Given the description of an element on the screen output the (x, y) to click on. 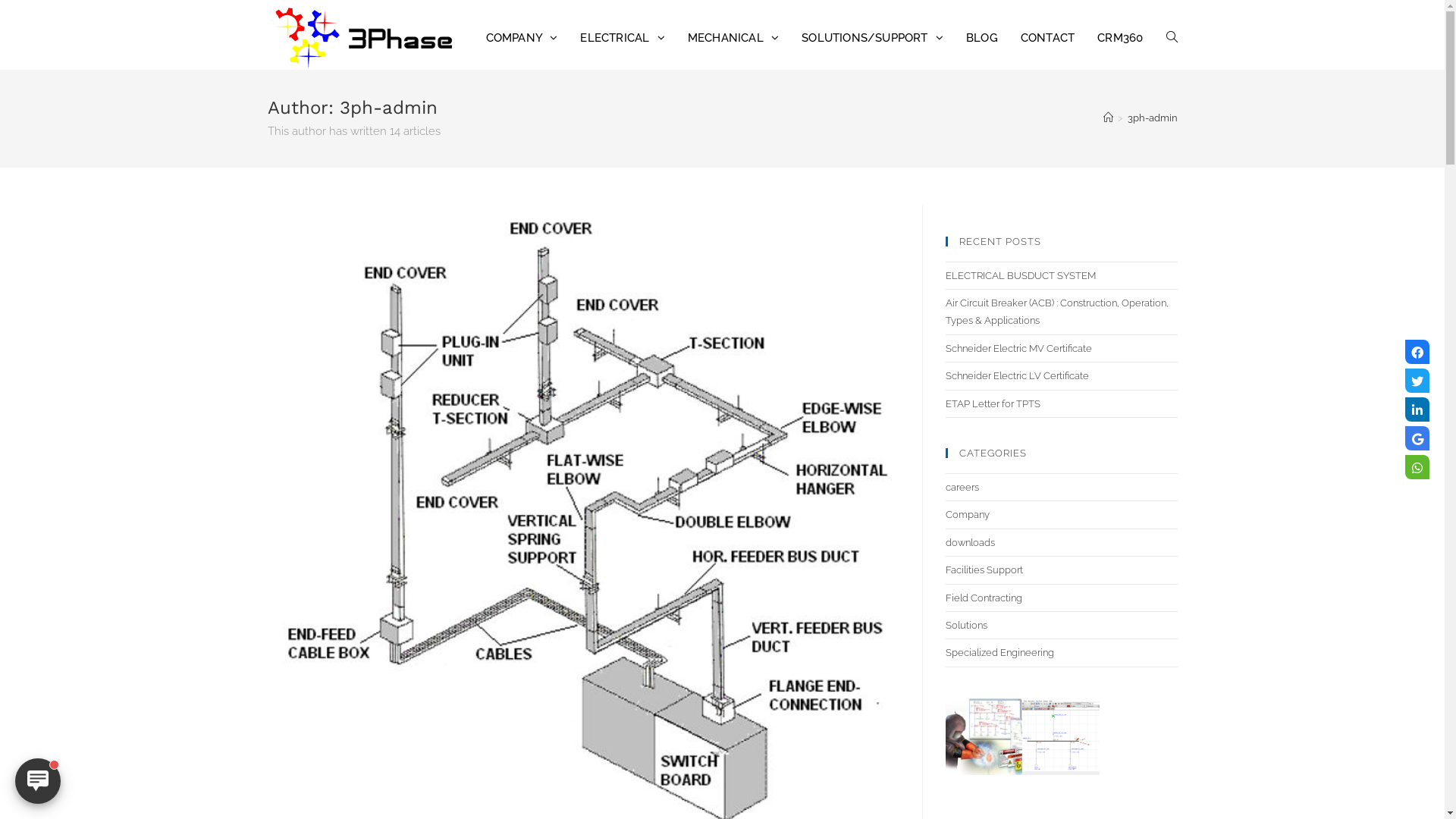
WhatsApp Element type: hover (1417, 467)
MECHANICAL Element type: text (733, 38)
Google Element type: hover (1417, 438)
BLOG Element type: text (981, 38)
Specialized Engineering Element type: text (998, 652)
Twitter Element type: hover (1417, 380)
SOLUTIONS/SUPPORT Element type: text (872, 38)
COMPANY Element type: text (521, 38)
ETAP Letter for TPTS Element type: text (991, 403)
ELECTRICAL BUSDUCT SYSTEM Element type: text (1019, 275)
3ph-admin Element type: text (1151, 117)
Schneider Electric MV Certificate Element type: text (1017, 348)
LinkedIn Element type: hover (1417, 409)
Company Element type: text (966, 514)
Solutions Element type: text (965, 624)
Facebook Element type: hover (1417, 351)
CONTACT Element type: text (1047, 38)
Facilities Support Element type: text (983, 569)
Schneider Electric LV Certificate Element type: text (1016, 375)
ELECTRICAL Element type: text (621, 38)
downloads Element type: text (969, 542)
Field Contracting Element type: text (982, 596)
careers Element type: text (961, 486)
CRM360 Element type: text (1119, 38)
